Given the description of an element on the screen output the (x, y) to click on. 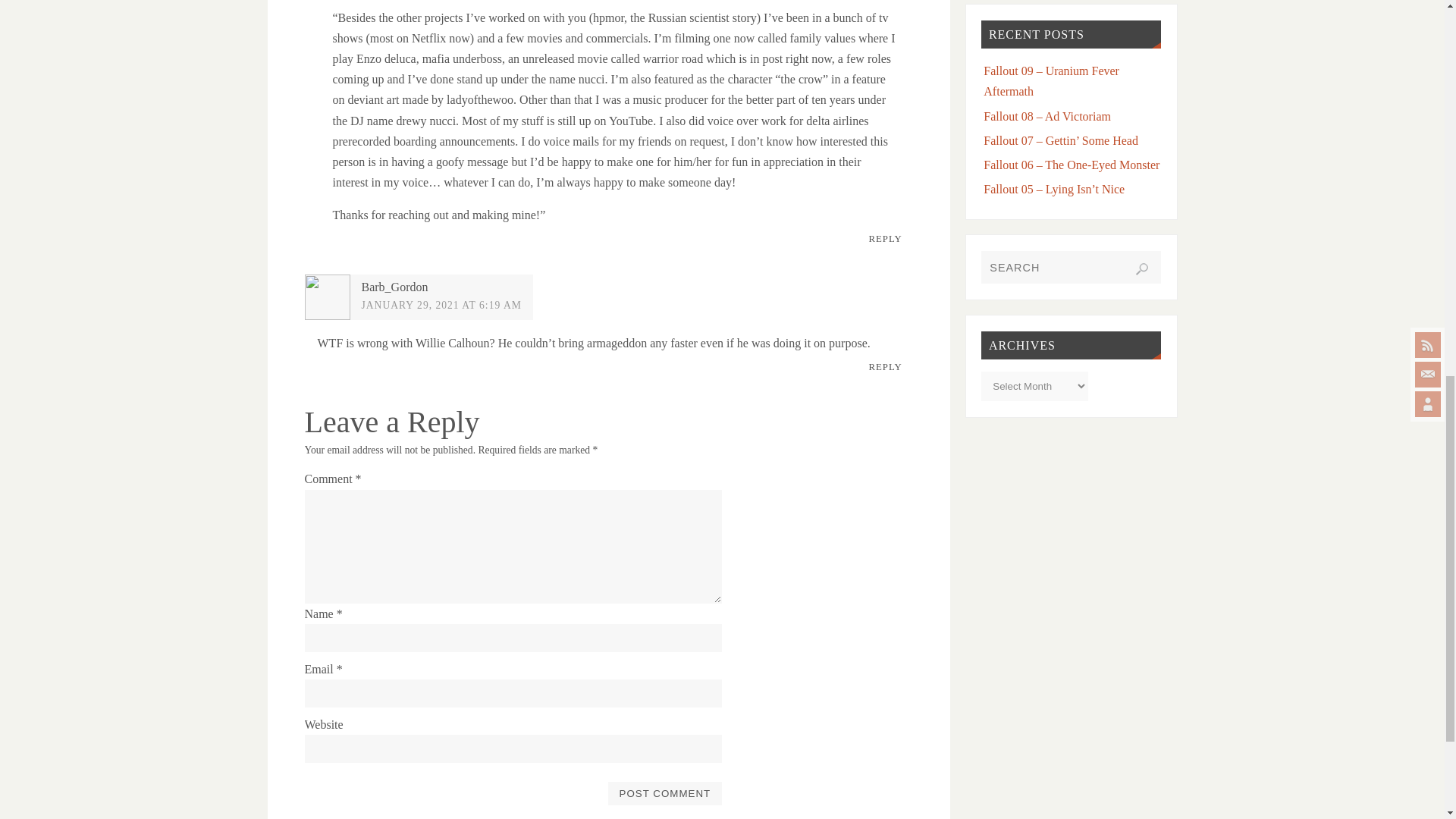
REPLY (885, 368)
JANUARY 29, 2021 AT 6:19 AM (441, 305)
Post Comment (664, 793)
REPLY (885, 239)
